Given the description of an element on the screen output the (x, y) to click on. 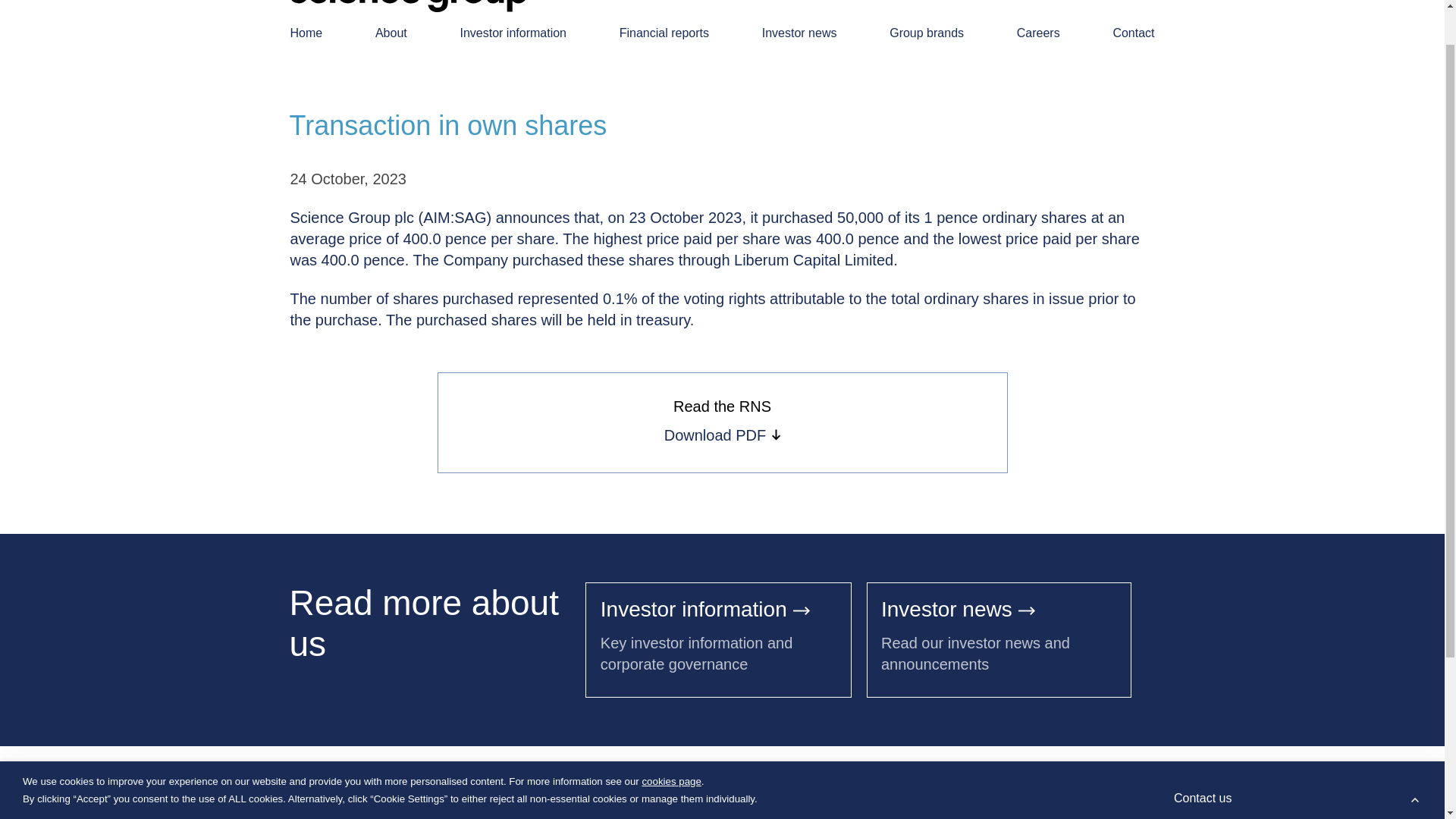
Investor information (513, 33)
Contact (1133, 33)
Careers (1037, 33)
Investor news (799, 33)
Investor information (390, 554)
Home (305, 33)
Financial reports (496, 554)
Group brands (926, 33)
Science Group (334, 534)
Financial reports (664, 33)
Investor information (704, 608)
Investor news (957, 608)
About (391, 33)
Download PDF (721, 435)
About (307, 554)
